Given the description of an element on the screen output the (x, y) to click on. 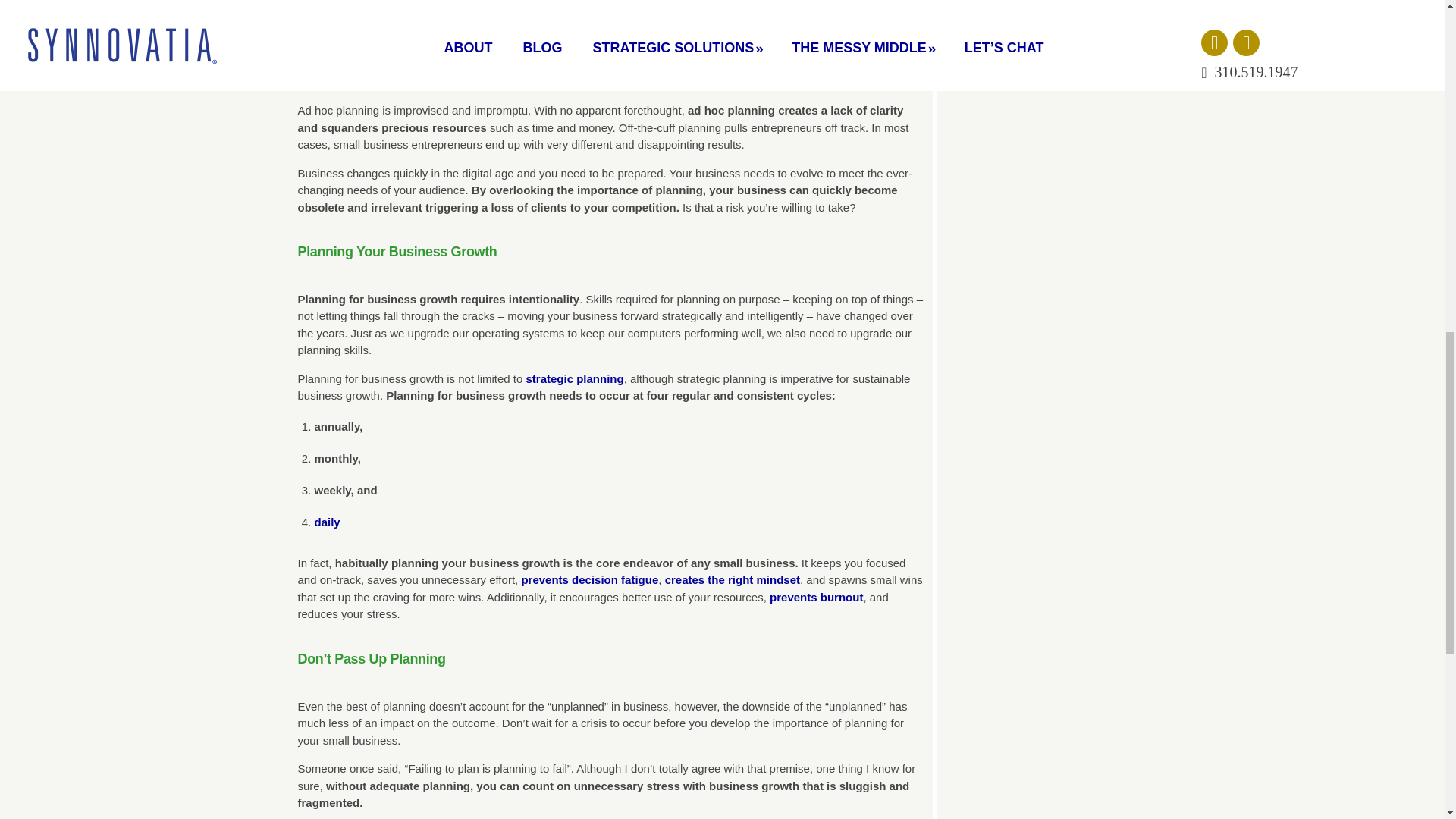
daily (326, 521)
strategic planning (574, 378)
strategic planning (574, 378)
prevents decision fatigue (589, 579)
prevents burnout (816, 596)
creates the right mindset (732, 579)
prevents decision fatigue (589, 579)
daily (326, 521)
creates the right mindset (732, 579)
prevents burnout (816, 596)
